Given the description of an element on the screen output the (x, y) to click on. 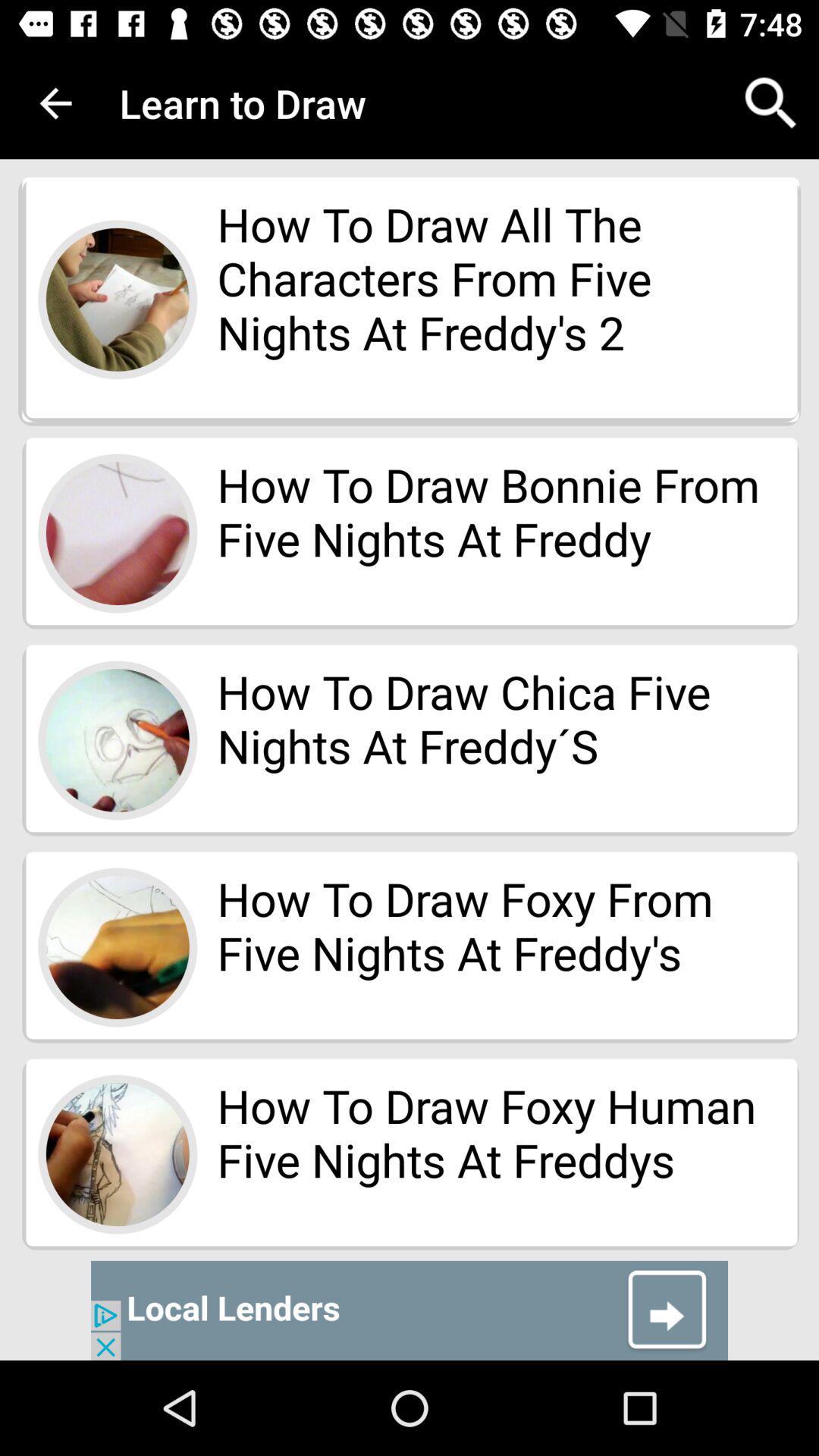
view advertisement (409, 1310)
